Given the description of an element on the screen output the (x, y) to click on. 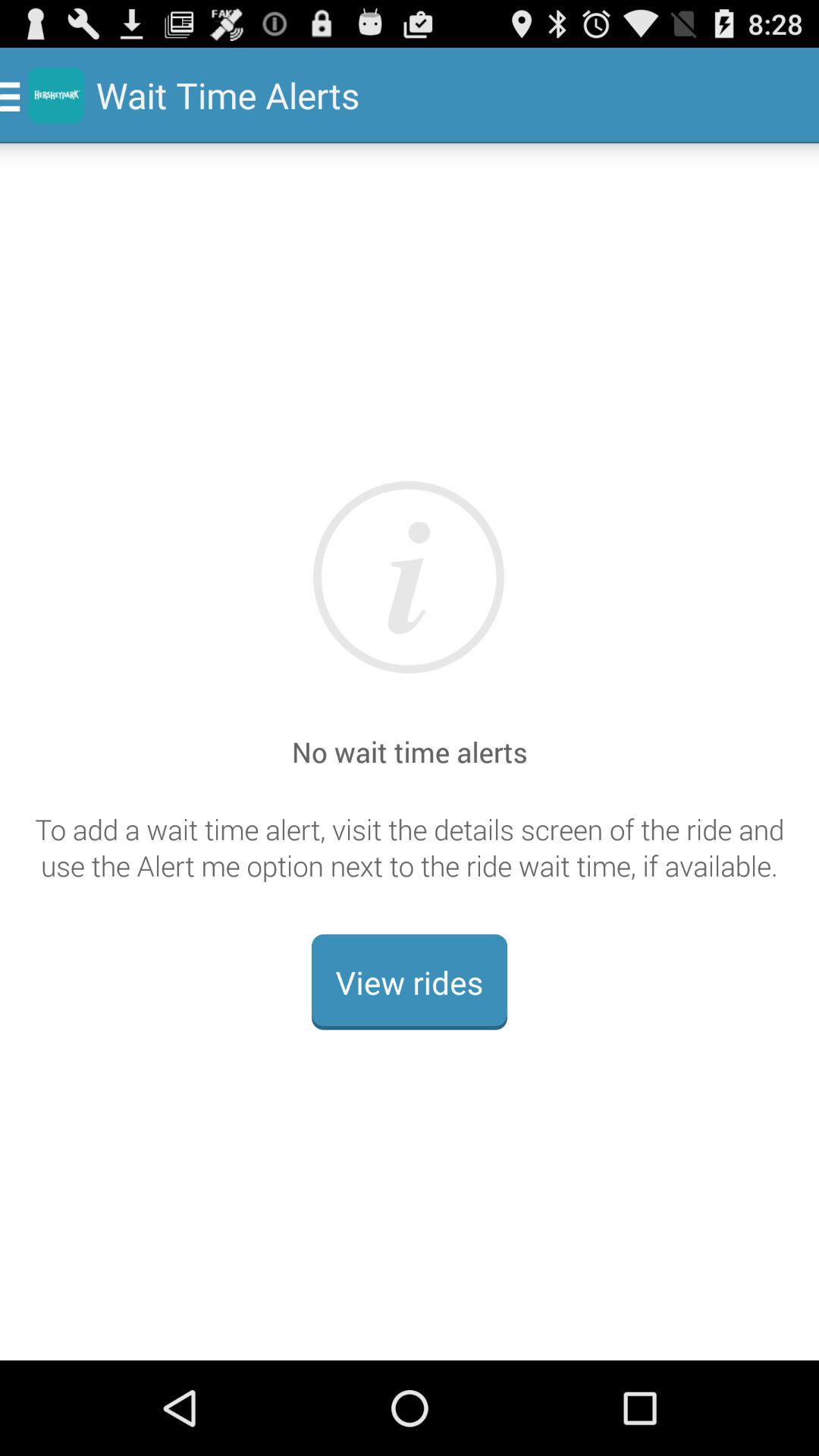
turn off view rides button (409, 982)
